Given the description of an element on the screen output the (x, y) to click on. 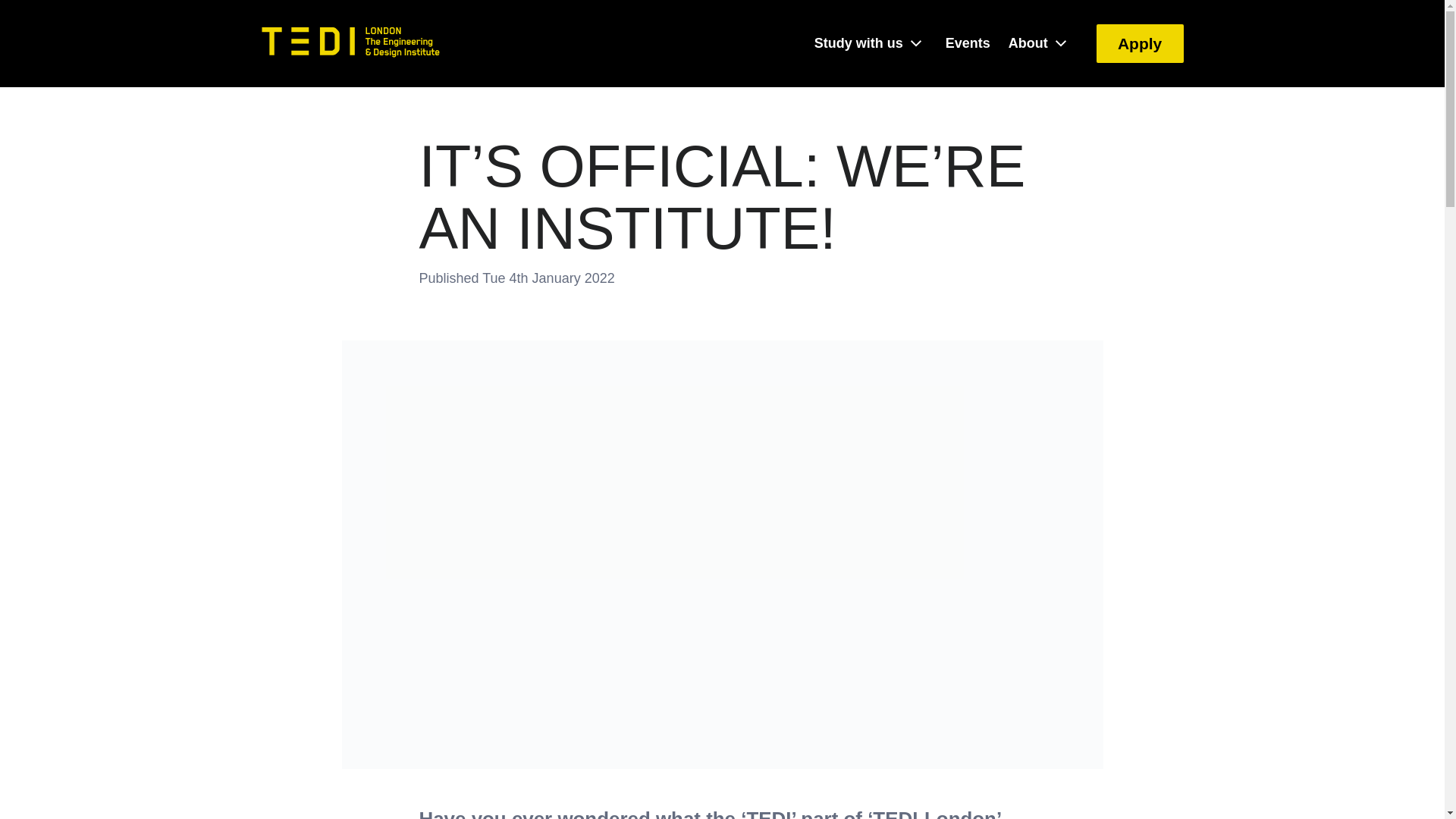
Study with us (857, 43)
Events (967, 43)
Apply (1139, 43)
Open About sub-navigation (1060, 42)
About (1028, 43)
Open Study with us sub-navigation (915, 42)
